Given the description of an element on the screen output the (x, y) to click on. 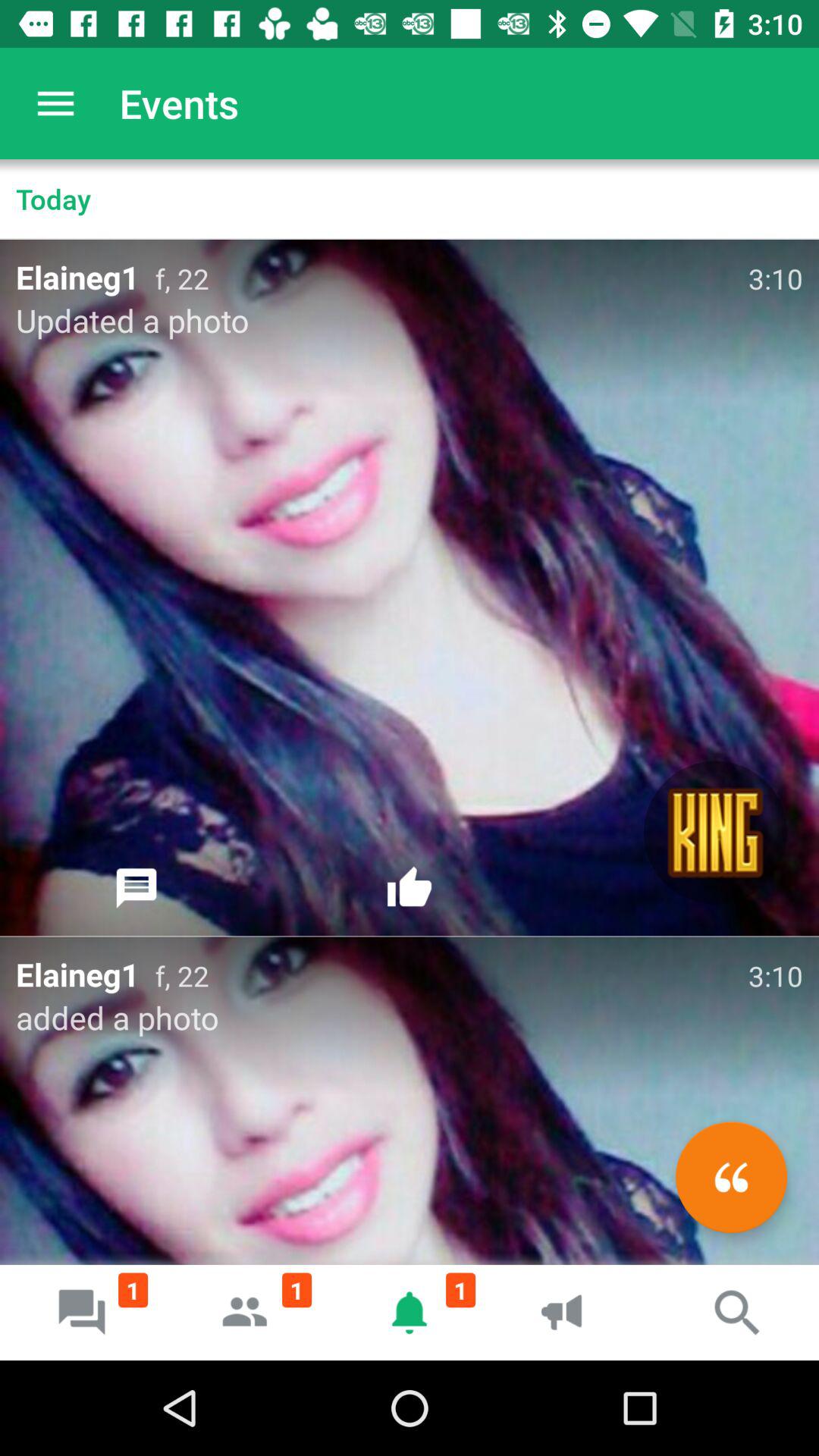
launch the item on the left (136, 888)
